Given the description of an element on the screen output the (x, y) to click on. 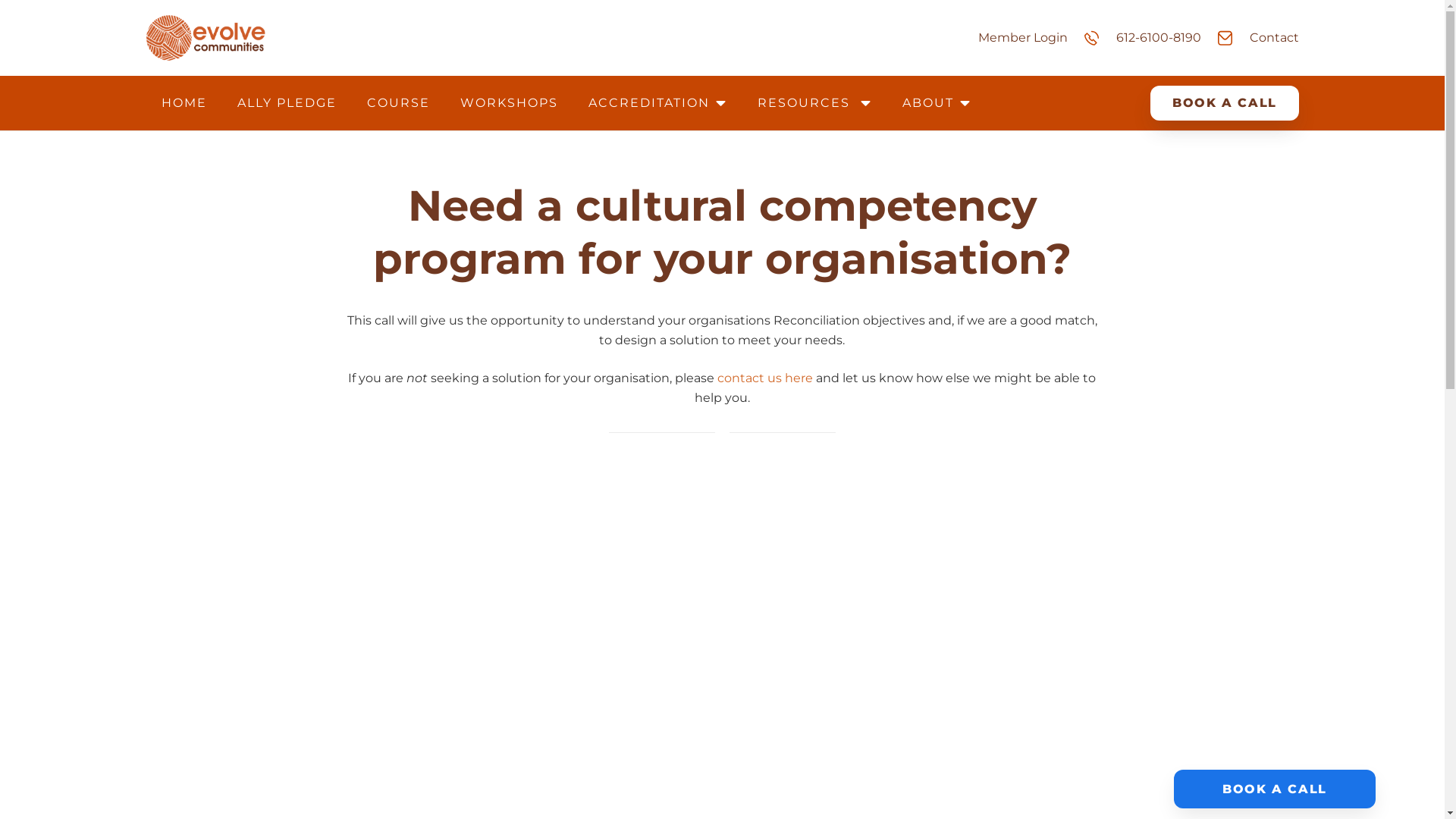
BOOK A CALL Element type: text (1224, 102)
ALLY PLEDGE Element type: text (286, 102)
WORKSHOPS Element type: text (508, 102)
ACCREDITATION Element type: text (657, 102)
Contact Element type: text (1274, 37)
HOME Element type: text (183, 102)
contact us here Element type: text (764, 377)
ABOUT Element type: text (936, 102)
COURSE Element type: text (398, 102)
612-6100-8190 Element type: text (1158, 37)
BOOK A CALL Element type: text (1274, 788)
Member Login Element type: text (1022, 37)
RESOURCES Element type: text (814, 102)
